Given the description of an element on the screen output the (x, y) to click on. 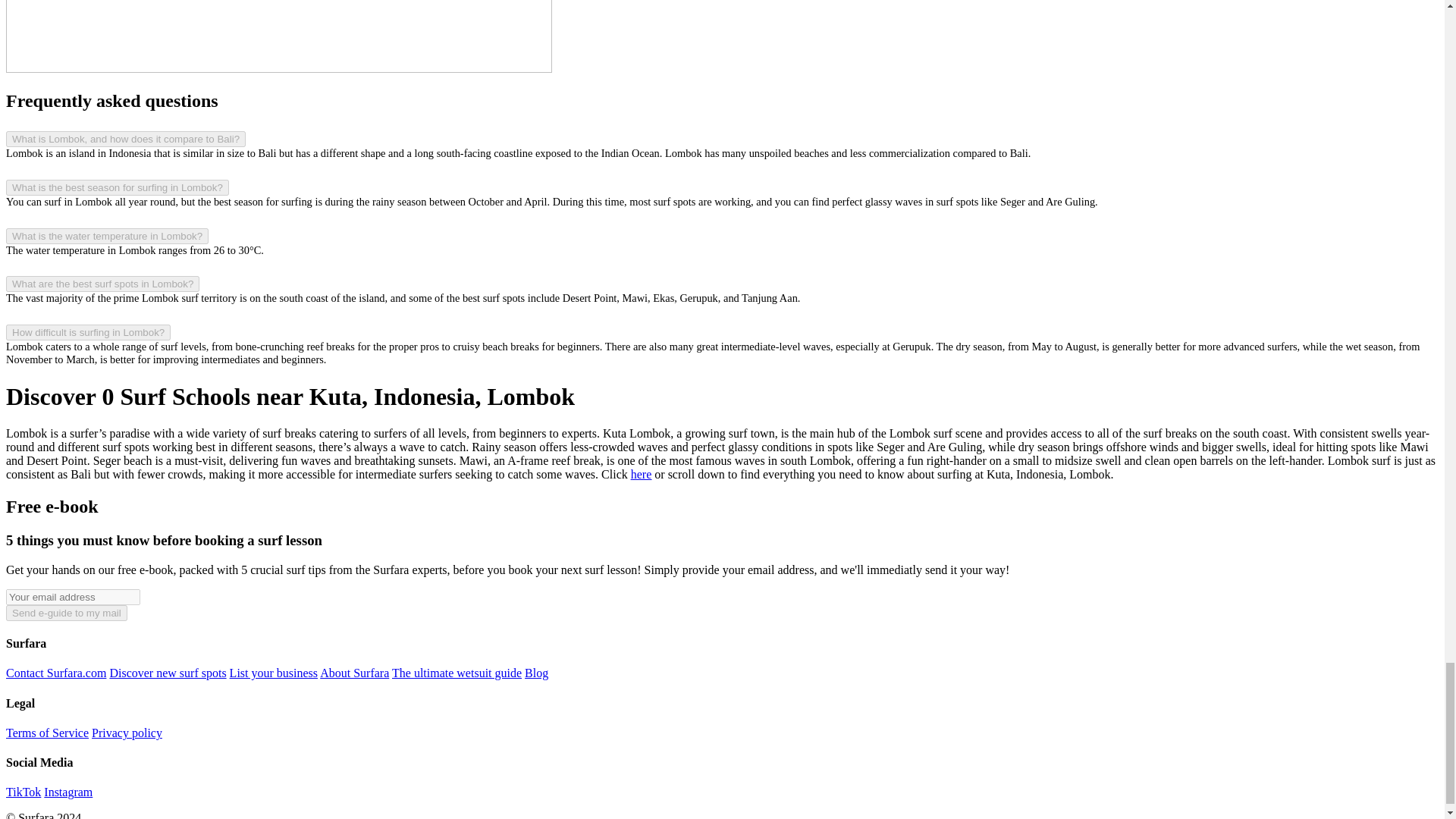
Send e-guide to my mail (66, 612)
